Given the description of an element on the screen output the (x, y) to click on. 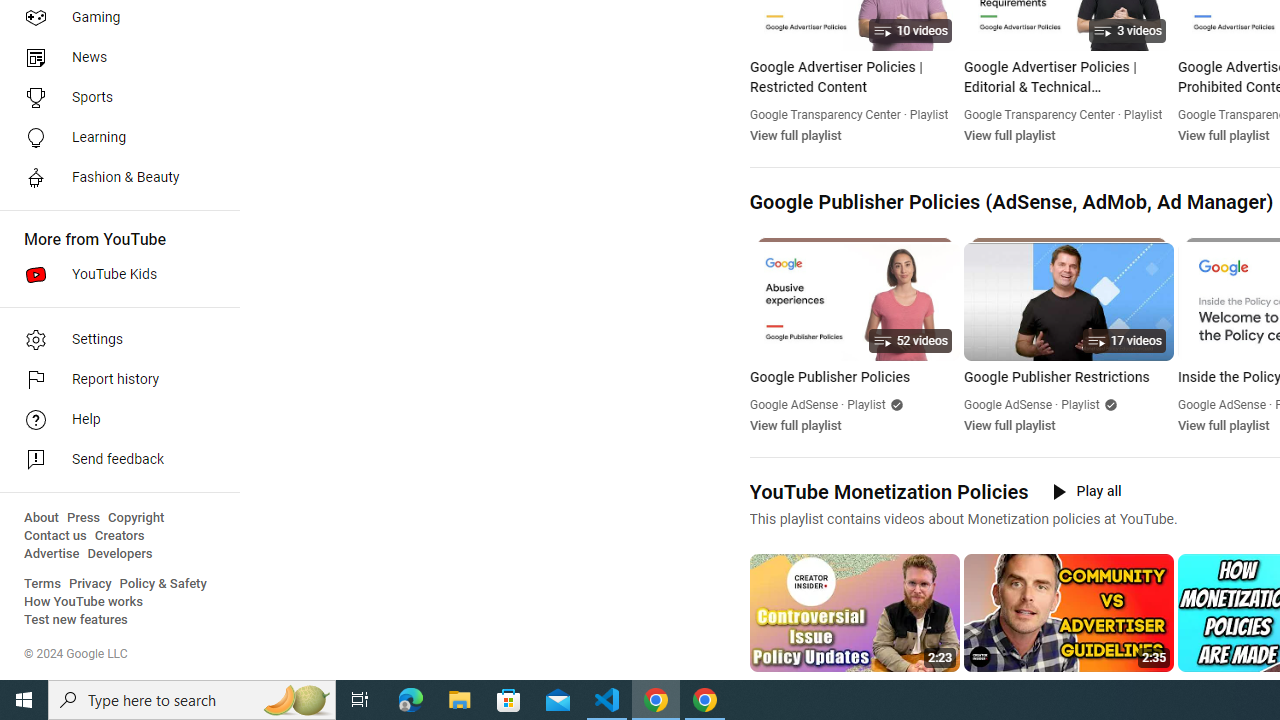
YouTube Monetization Policies (888, 492)
Playlist (1079, 404)
Copyright (136, 518)
Terms (42, 584)
Privacy (89, 584)
Test new features (76, 620)
Google Publisher Restrictions (1067, 377)
Google Publisher Policies (AdSense, AdMob, Ad Manager) (1010, 201)
Policy & Safety (163, 584)
Developers (120, 554)
Play all (1086, 491)
Learning (113, 137)
Contact us (55, 536)
Send feedback (113, 459)
Google AdSense (1222, 404)
